Given the description of an element on the screen output the (x, y) to click on. 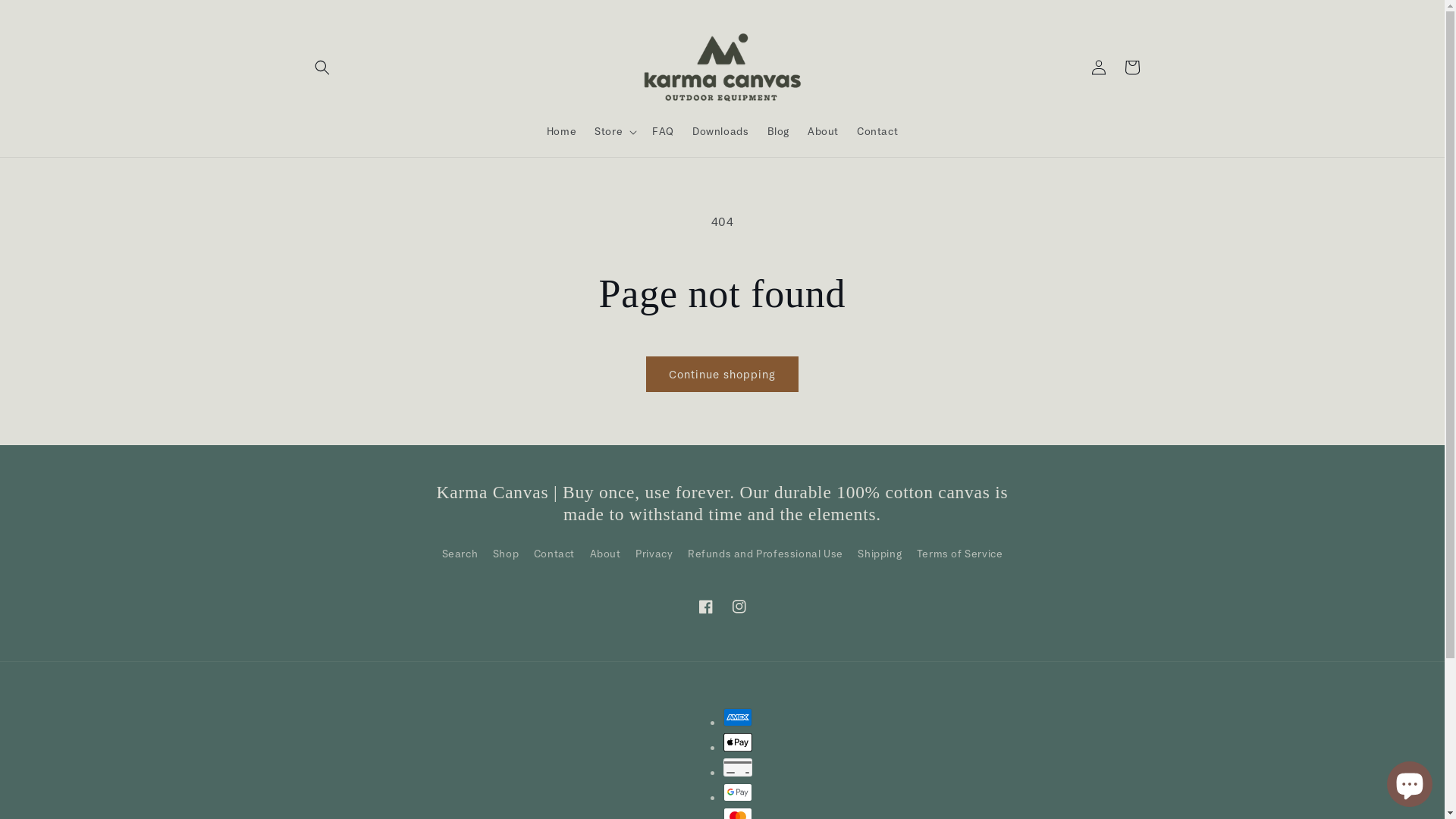
Shopify online store chat Element type: hover (1409, 780)
Facebook Element type: text (704, 606)
Contact Element type: text (876, 131)
Shipping Element type: text (879, 553)
Privacy Element type: text (653, 553)
Log in Element type: text (1097, 67)
Shop Element type: text (505, 553)
FAQ Element type: text (663, 131)
About Element type: text (605, 553)
Contact Element type: text (553, 553)
Terms of Service Element type: text (959, 553)
Search Element type: text (460, 555)
Refunds and Professional Use Element type: text (765, 553)
Blog Element type: text (778, 131)
Home Element type: text (561, 131)
About Element type: text (822, 131)
Continue shopping Element type: text (722, 374)
Cart Element type: text (1131, 67)
Instagram Element type: text (738, 606)
Downloads Element type: text (720, 131)
